Given the description of an element on the screen output the (x, y) to click on. 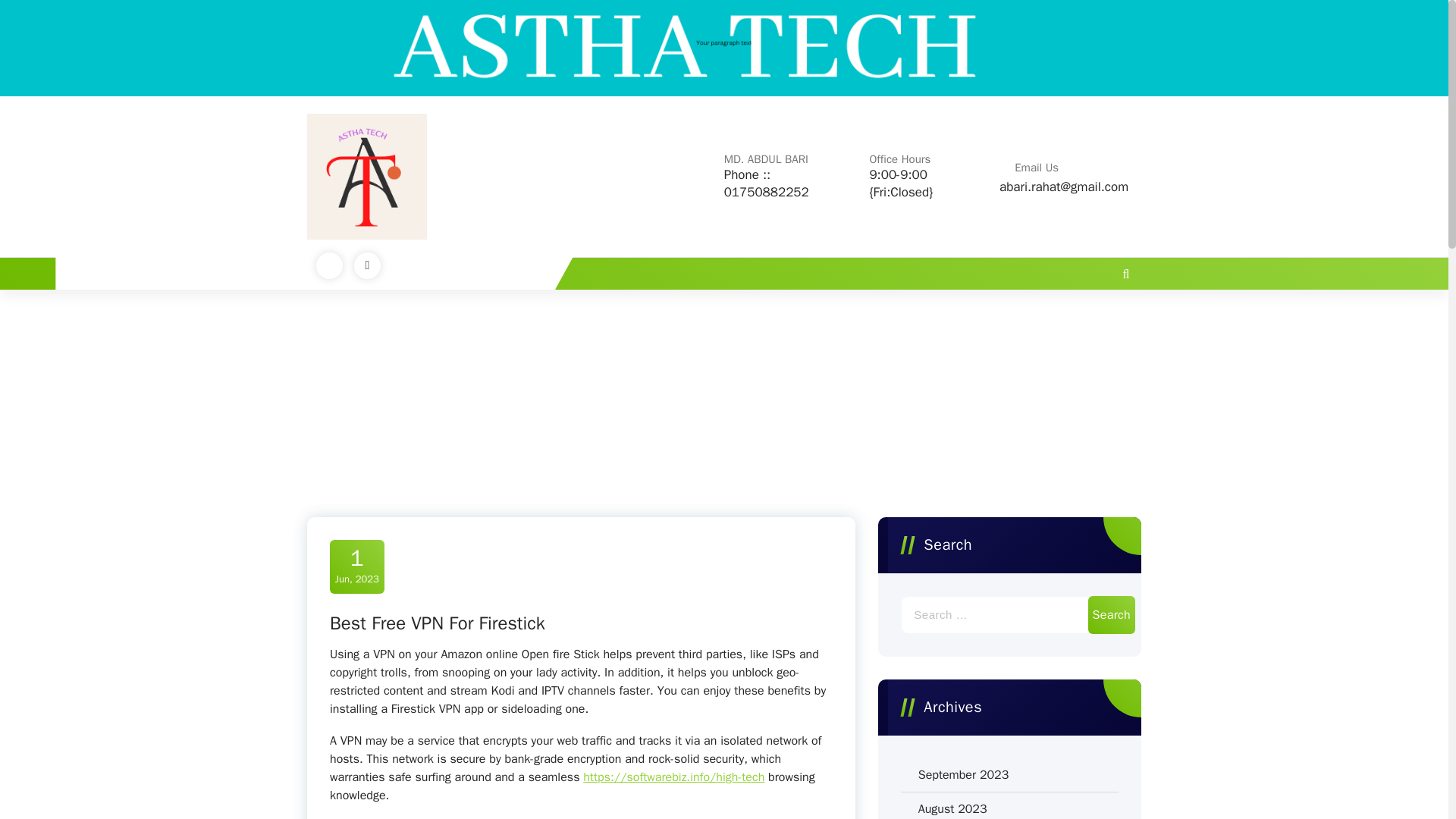
September 2023 (963, 774)
Search (1111, 614)
Search (1111, 614)
Search (1111, 614)
August 2023 (952, 809)
